Given the description of an element on the screen output the (x, y) to click on. 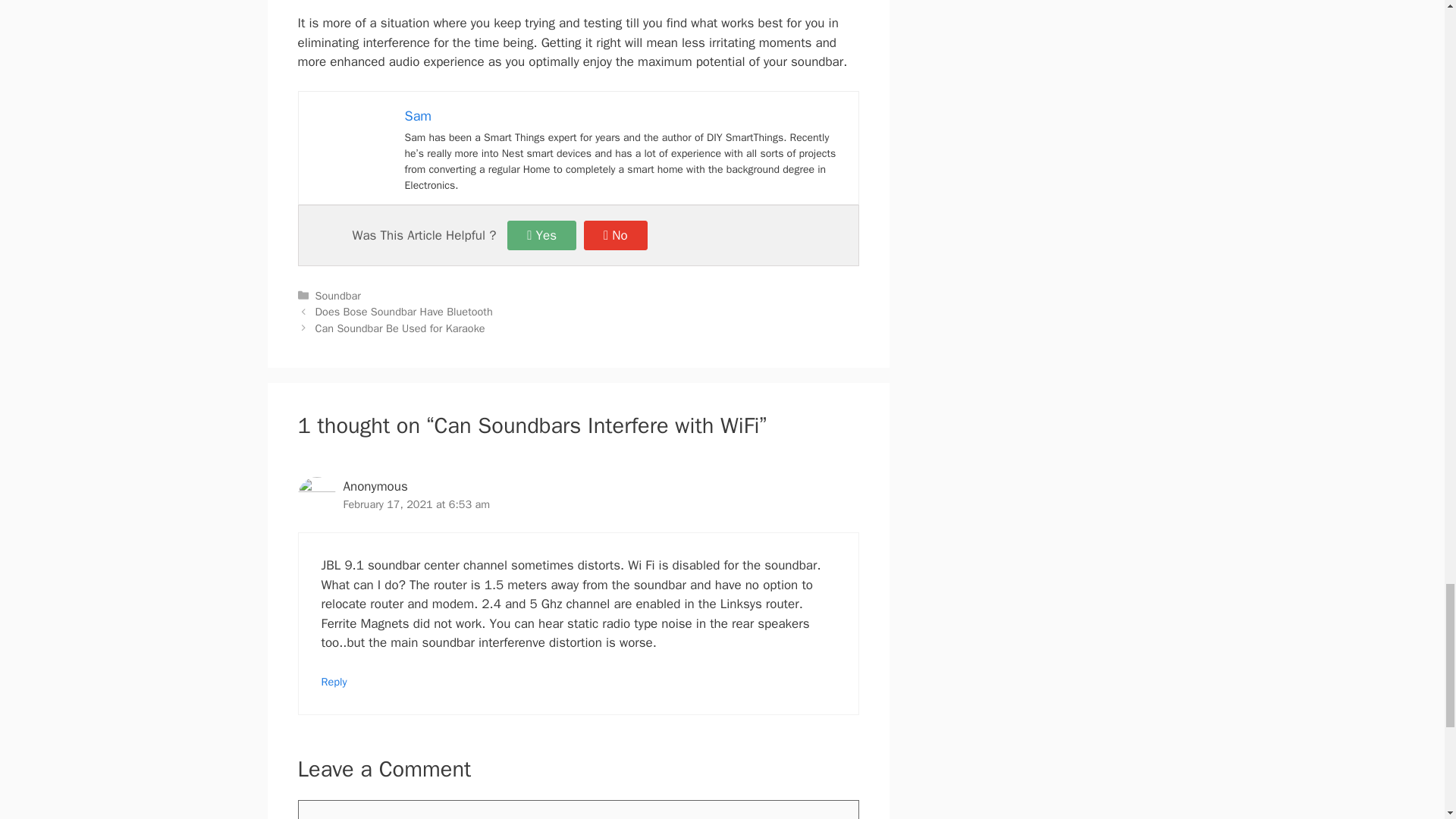
Yes (541, 235)
February 17, 2021 at 6:53 am (415, 504)
No (615, 235)
Soundbar (338, 295)
Can Soundbar Be Used for Karaoke (399, 327)
Does Bose Soundbar Have Bluetooth (404, 311)
Sam (418, 115)
Reply (334, 681)
